Given the description of an element on the screen output the (x, y) to click on. 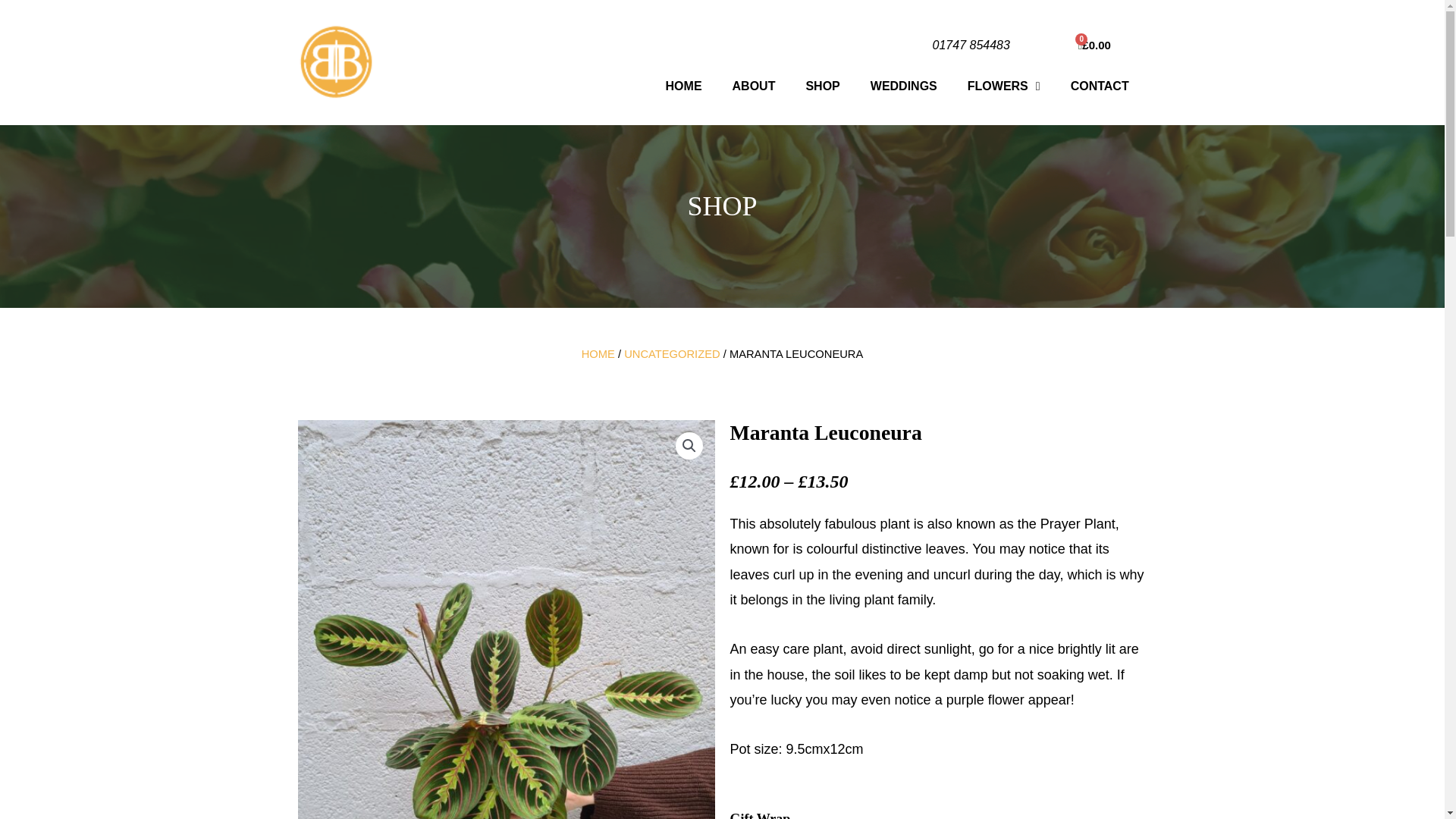
SHOP (822, 85)
CONTACT (1099, 85)
01747 854483 (971, 44)
WEDDINGS (904, 85)
FLOWERS (1003, 85)
HOME (597, 354)
ABOUT (753, 85)
UNCATEGORIZED (671, 354)
HOME (683, 85)
